Given the description of an element on the screen output the (x, y) to click on. 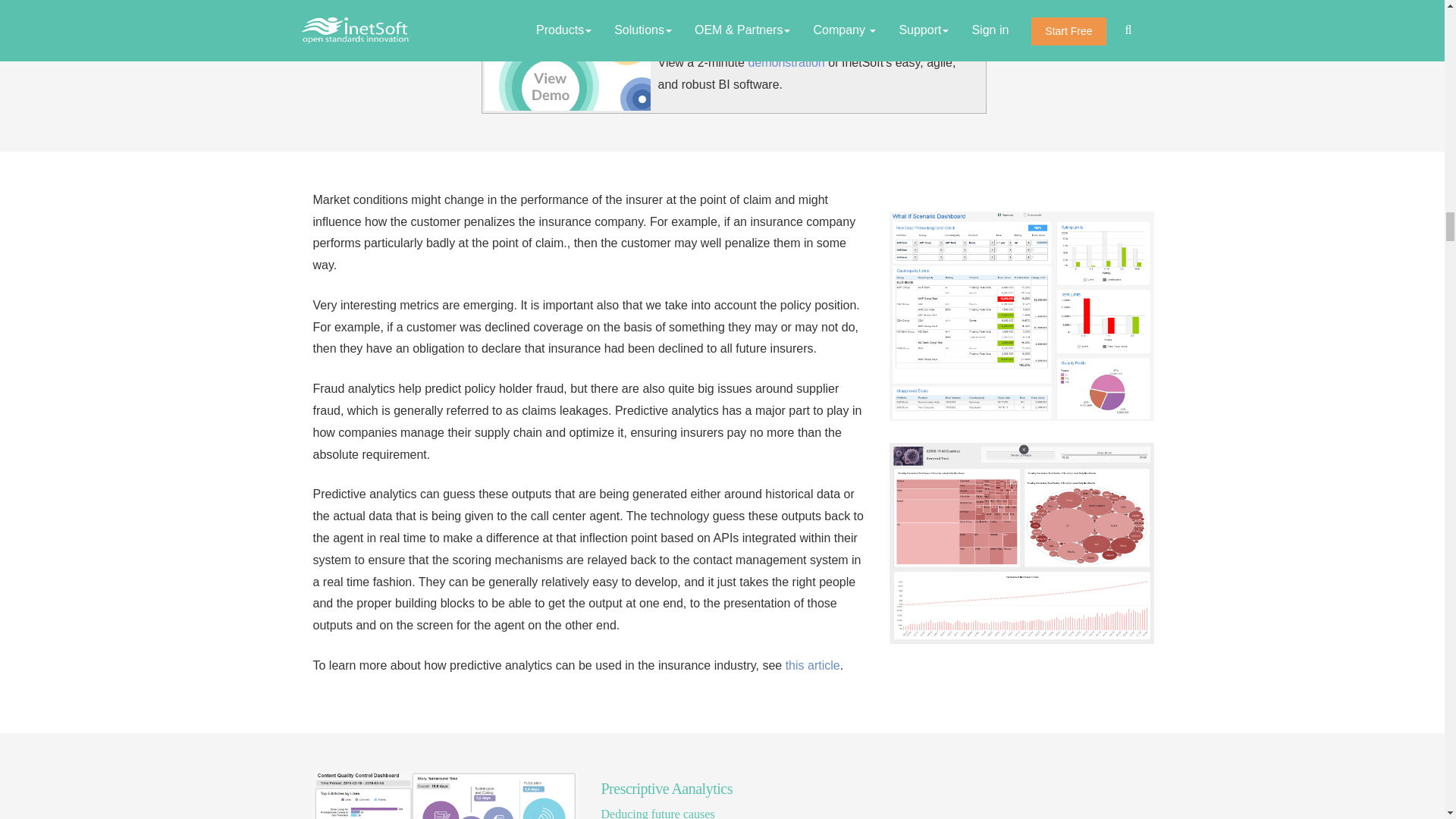
Check out the demo (786, 62)
Watch the demo (566, 73)
